Given the description of an element on the screen output the (x, y) to click on. 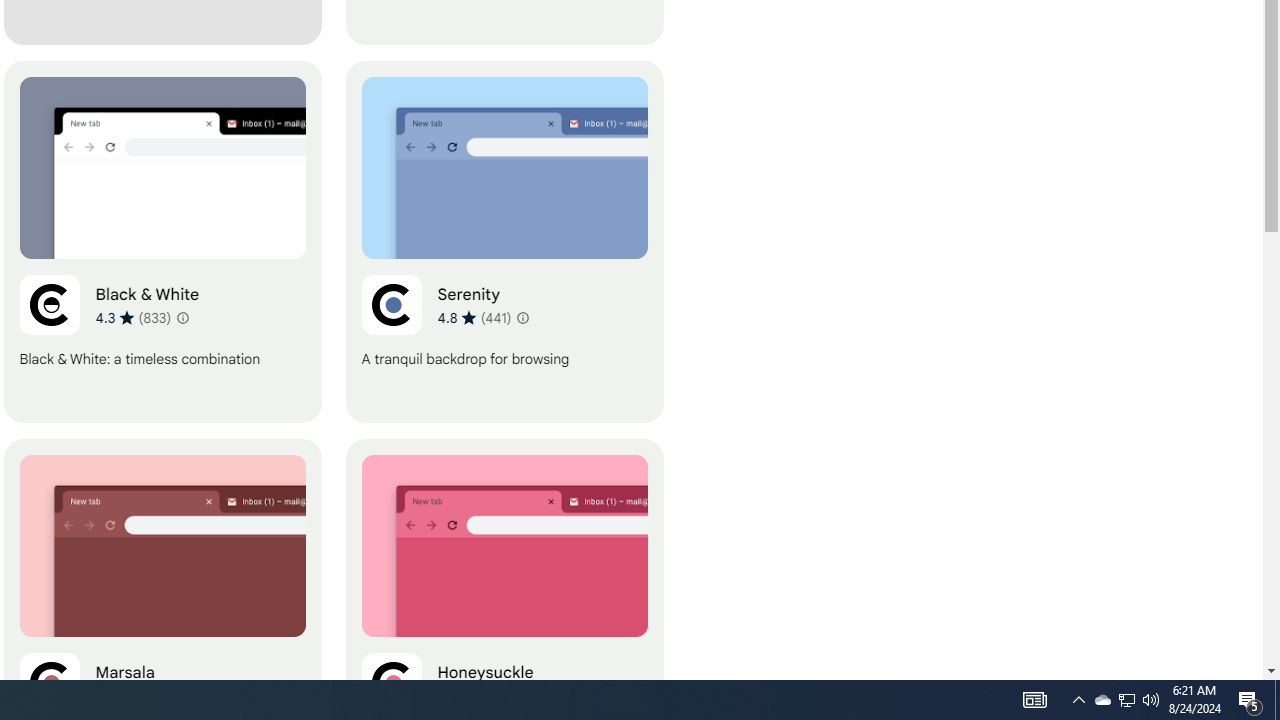
Serenity (504, 242)
Black & White (162, 242)
Learn more about results and reviews "Serenity" (522, 317)
Average rating 4.3 out of 5 stars. 833 ratings. (132, 317)
Learn more about results and reviews "Black & White" (182, 317)
Average rating 4.8 out of 5 stars. 441 ratings. (474, 317)
